Given the description of an element on the screen output the (x, y) to click on. 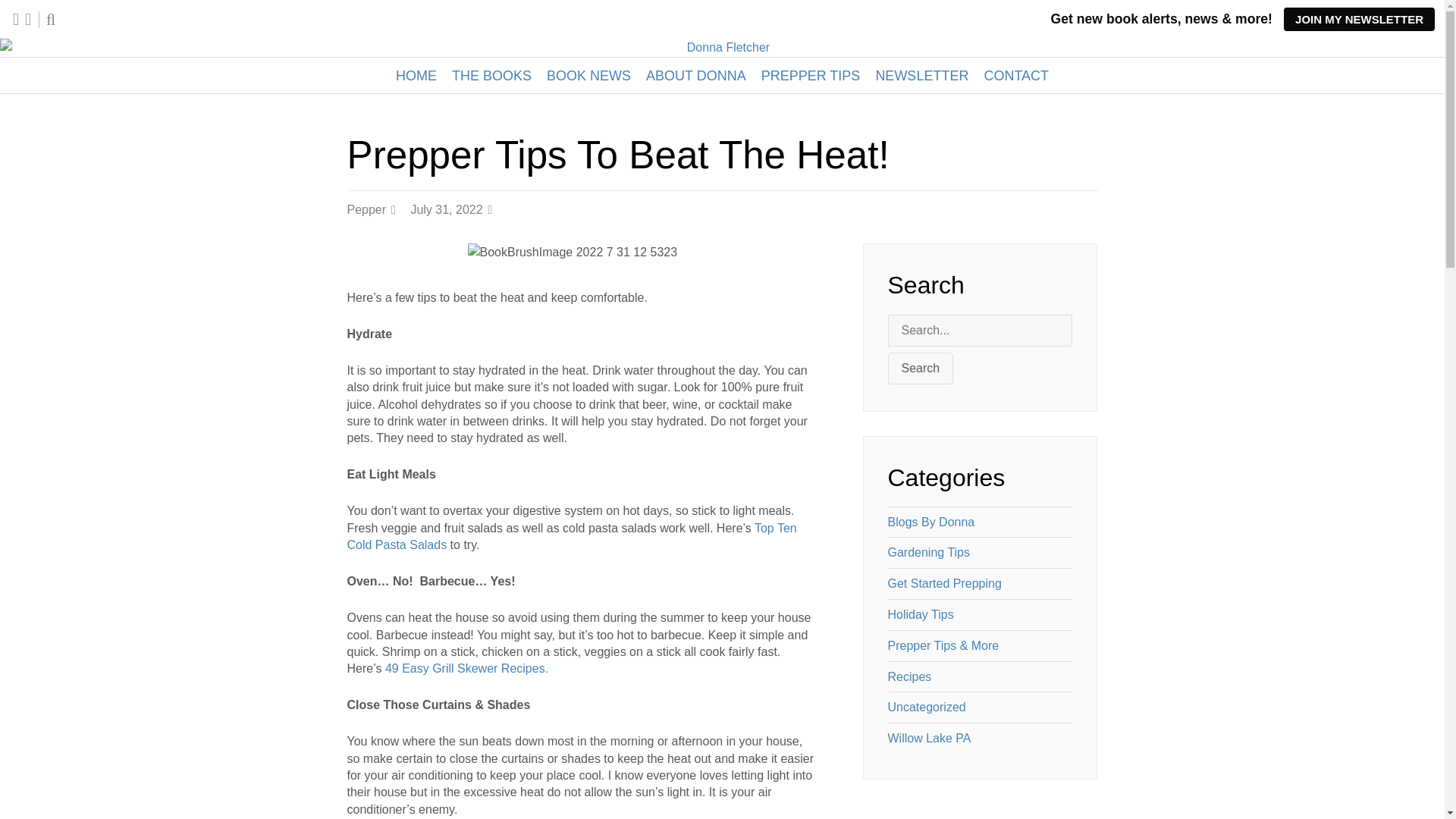
Follow on Pinterest (27, 18)
BOOK NEWS (588, 75)
PREPPER TIPS (810, 75)
Top Ten Cold Pasta Salads (571, 536)
Follow on Instagram (15, 18)
CONTACT (1016, 75)
49 Easy Grill Skewer Recipes. (464, 667)
JOIN MY NEWSLETTER (1359, 19)
NEWSLETTER (921, 75)
THE BOOKS (491, 75)
